Given the description of an element on the screen output the (x, y) to click on. 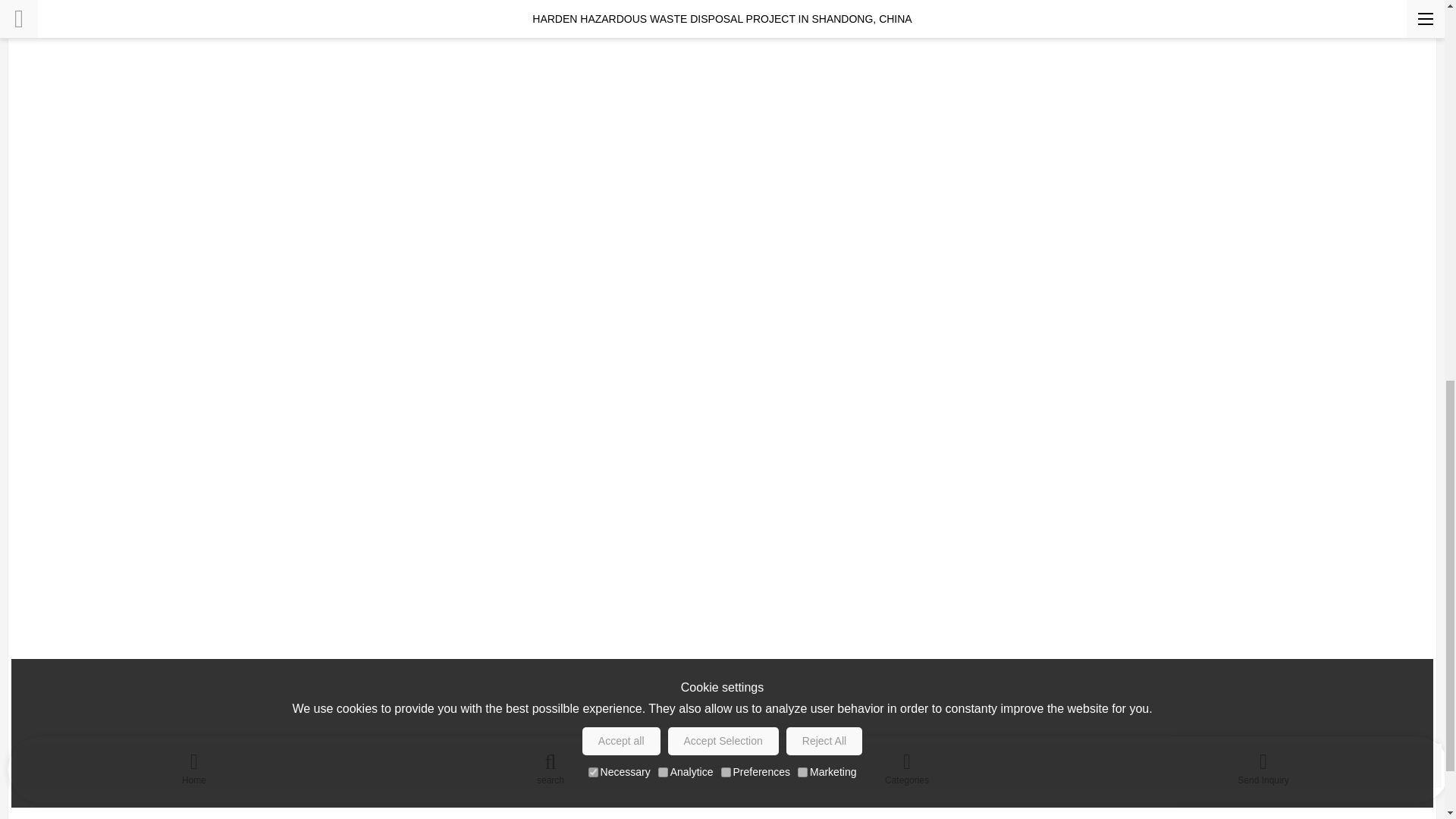
Home (194, 6)
search (550, 6)
Categories (906, 6)
search (550, 6)
Send Inquiry (1262, 6)
Home (194, 6)
Categories (906, 6)
Send Inquiry (1262, 6)
